Given the description of an element on the screen output the (x, y) to click on. 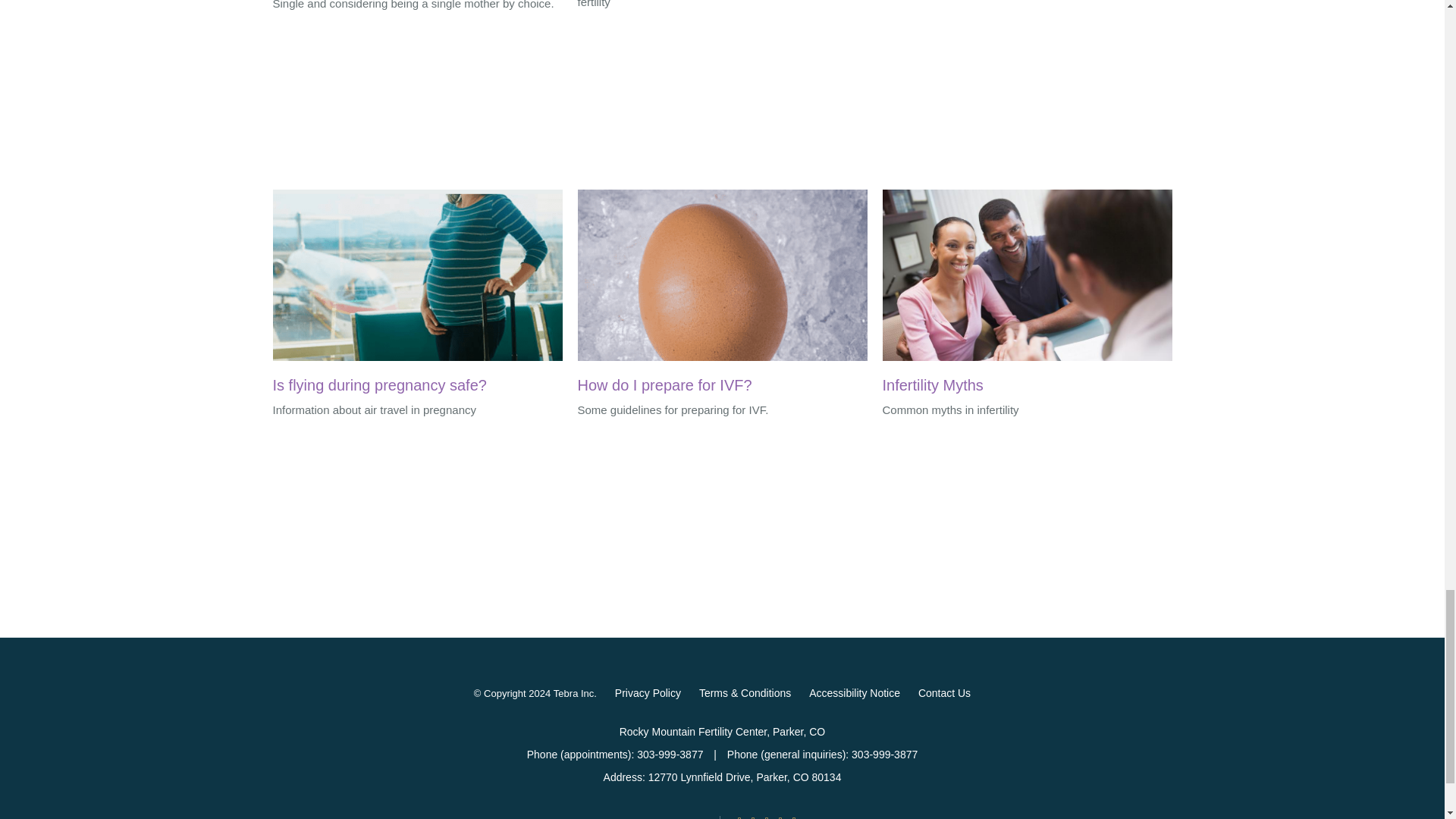
Star Rating (780, 817)
Star Rating (753, 817)
Star Rating (794, 817)
Star Rating (766, 817)
Star Rating (738, 817)
